Given the description of an element on the screen output the (x, y) to click on. 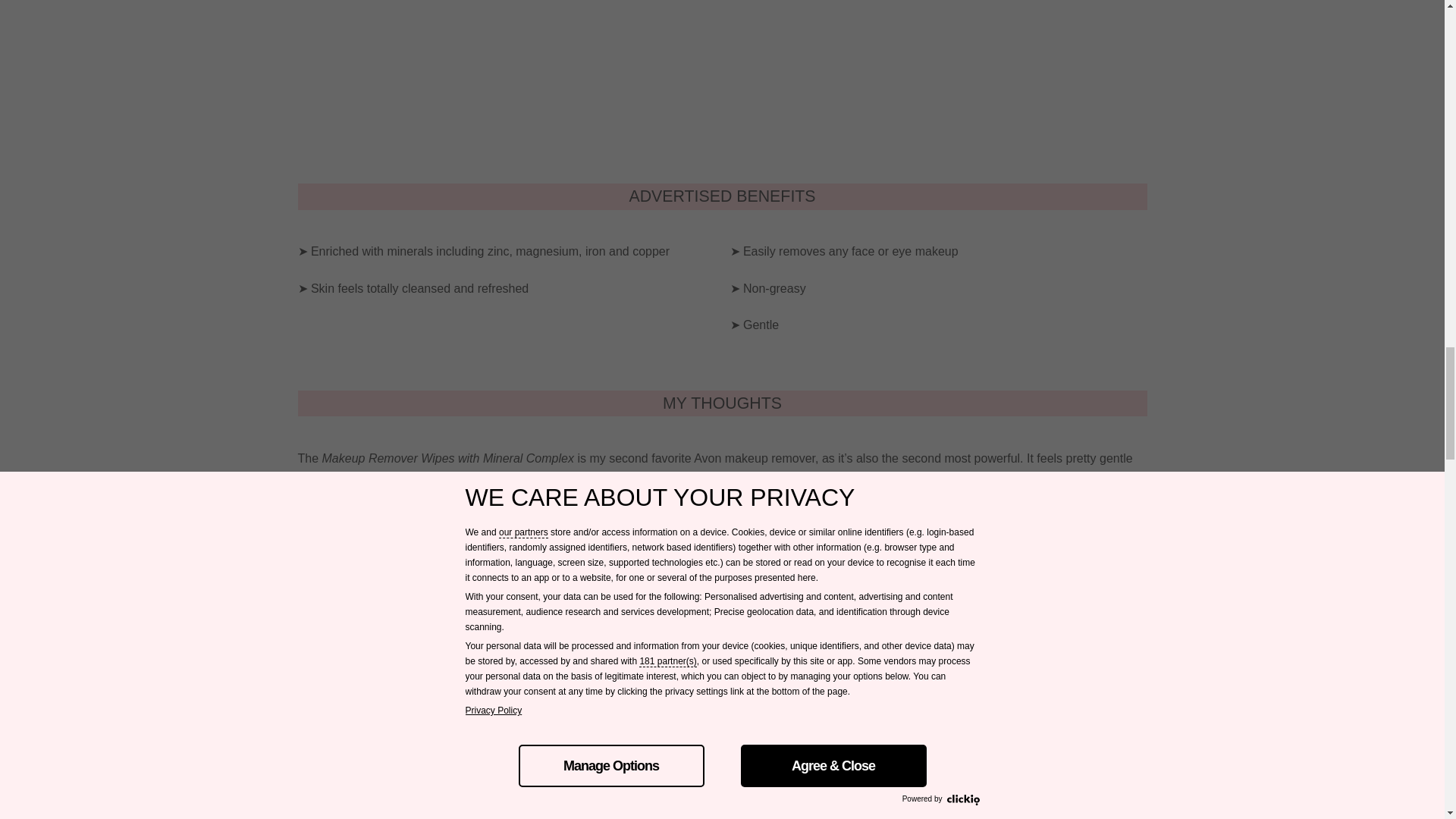
Real talk: my top 5 most used Avon makeup products (460, 612)
which avon makeup items are vegan?: an updated list (462, 574)
